Given the description of an element on the screen output the (x, y) to click on. 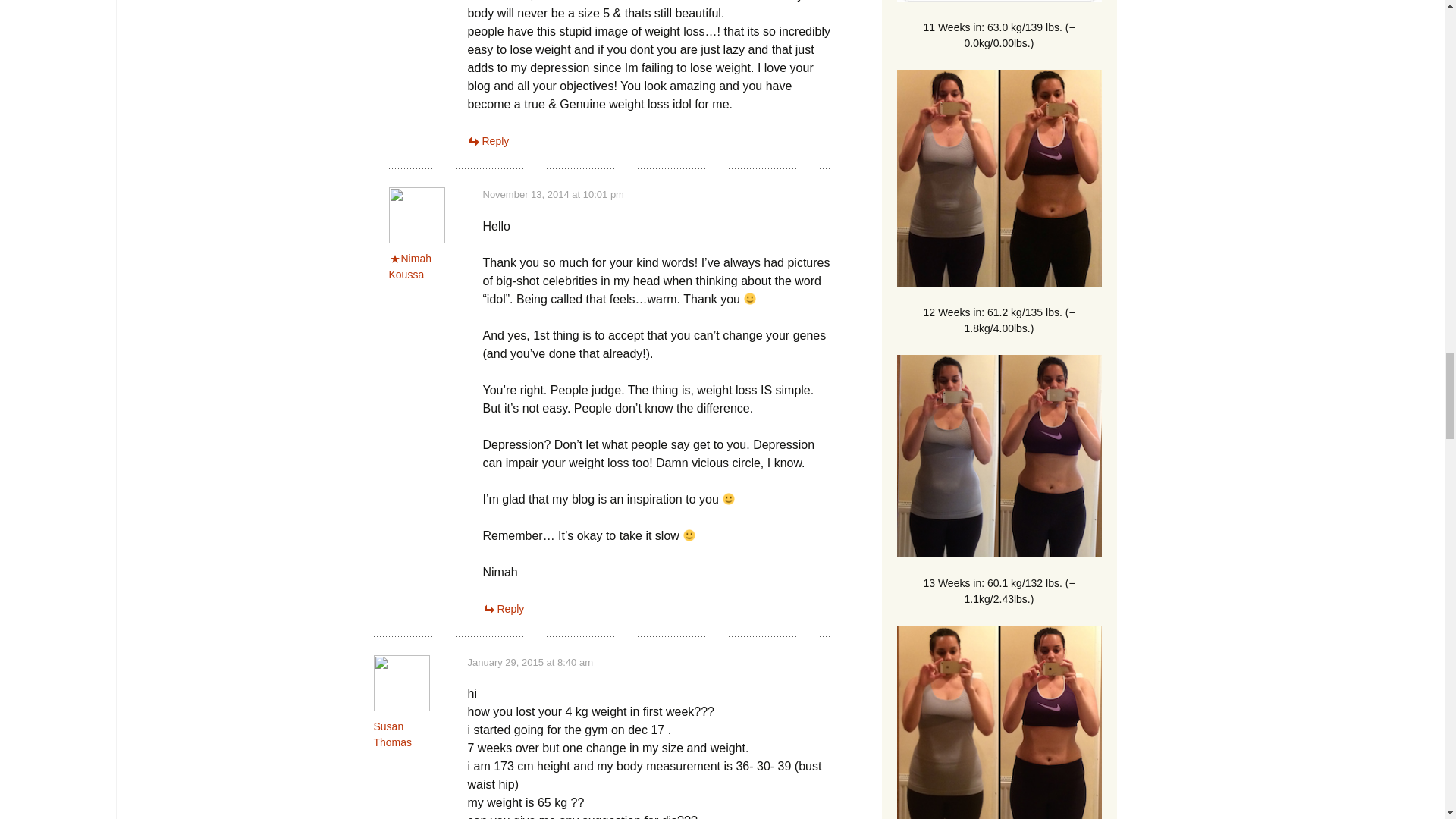
Reply (487, 141)
January 29, 2015 at 8:40 am (529, 662)
November 13, 2014 at 10:01 pm (552, 194)
Reply (502, 608)
